Given the description of an element on the screen output the (x, y) to click on. 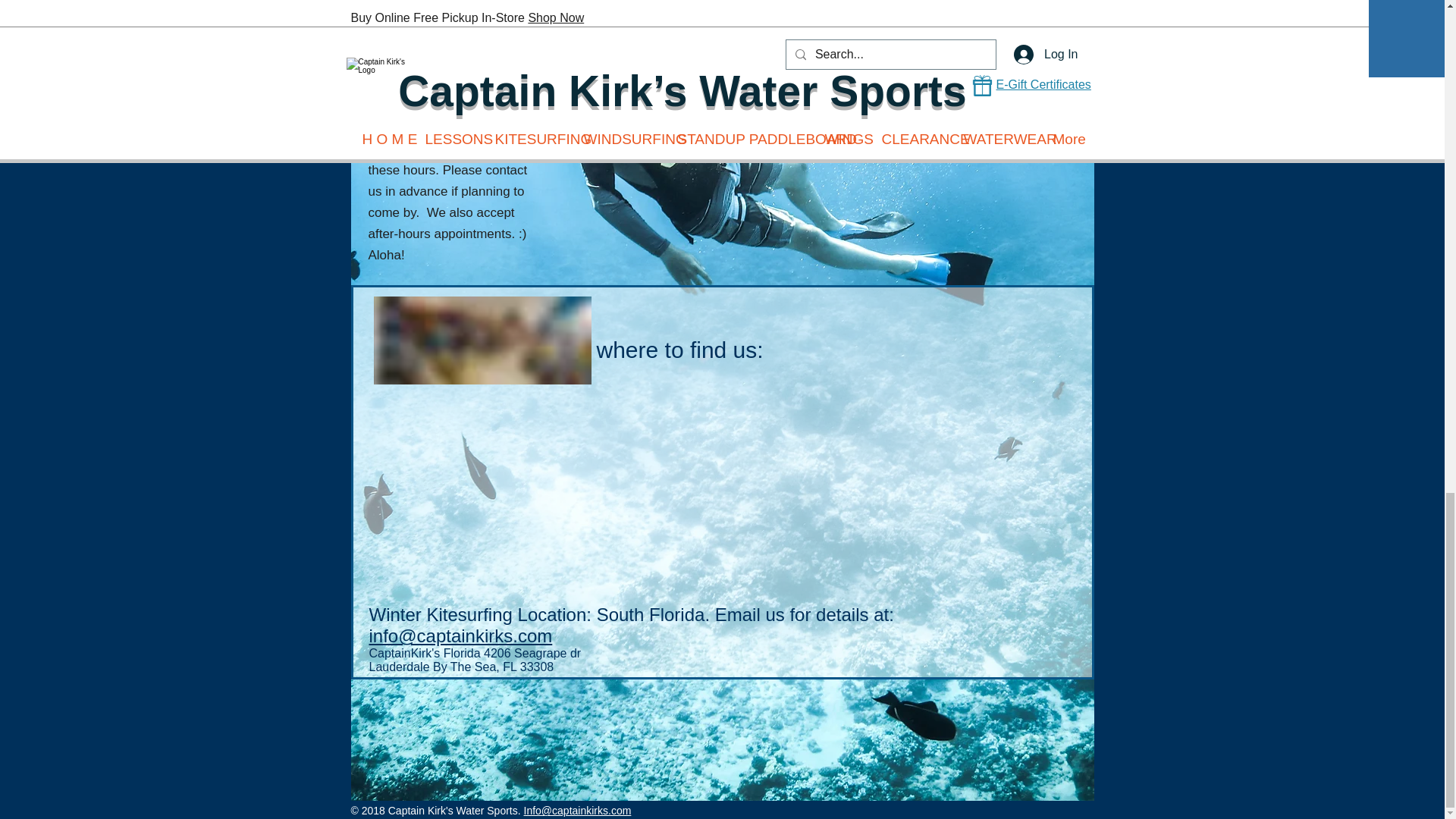
Google Maps (897, 492)
Google Maps (543, 492)
